Given the description of an element on the screen output the (x, y) to click on. 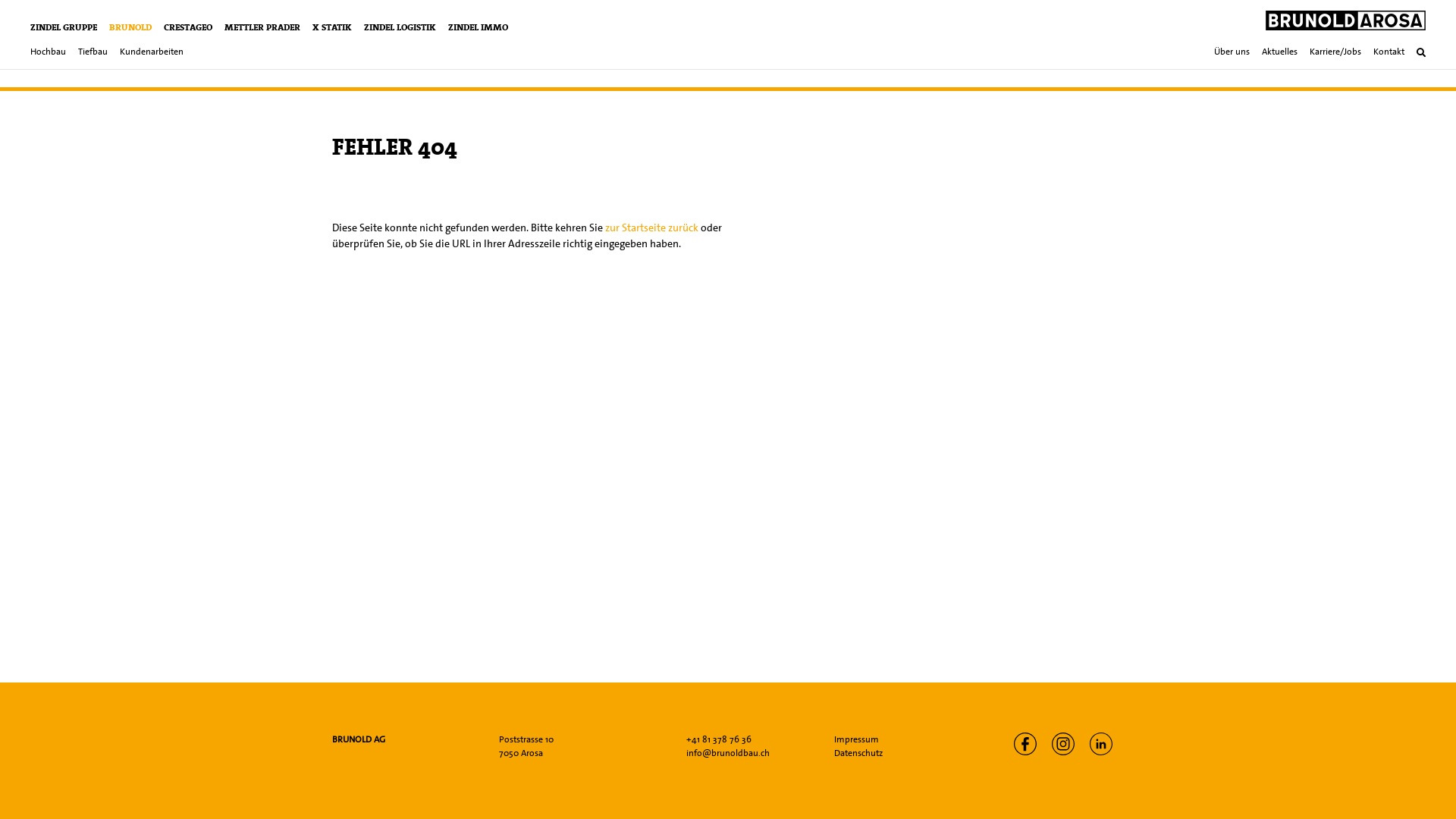
BRUNOLD Element type: text (130, 27)
METTLER PRADER Element type: text (262, 27)
Tiefbau Element type: text (92, 52)
CRESTAGEO Element type: text (187, 27)
Karriere/Jobs Element type: text (1335, 52)
Hochbau Element type: text (47, 52)
Impressum Element type: text (856, 739)
Facebook Element type: hover (1024, 743)
Datenschutz Element type: text (858, 752)
Kontakt Element type: text (1388, 52)
ZINDEL IMMO Element type: text (478, 27)
LinkedIn Element type: hover (1100, 743)
Kundenarbeiten Element type: text (151, 52)
+41 81 378 76 36 Element type: text (718, 739)
ZINDEL LOGISTIK Element type: text (400, 27)
Instagram Element type: hover (1062, 743)
info@brunoldbau.ch Element type: text (727, 752)
Aktuelles Element type: text (1279, 52)
ZINDEL GRUPPE Element type: text (63, 27)
X STATIK Element type: text (331, 27)
